Given the description of an element on the screen output the (x, y) to click on. 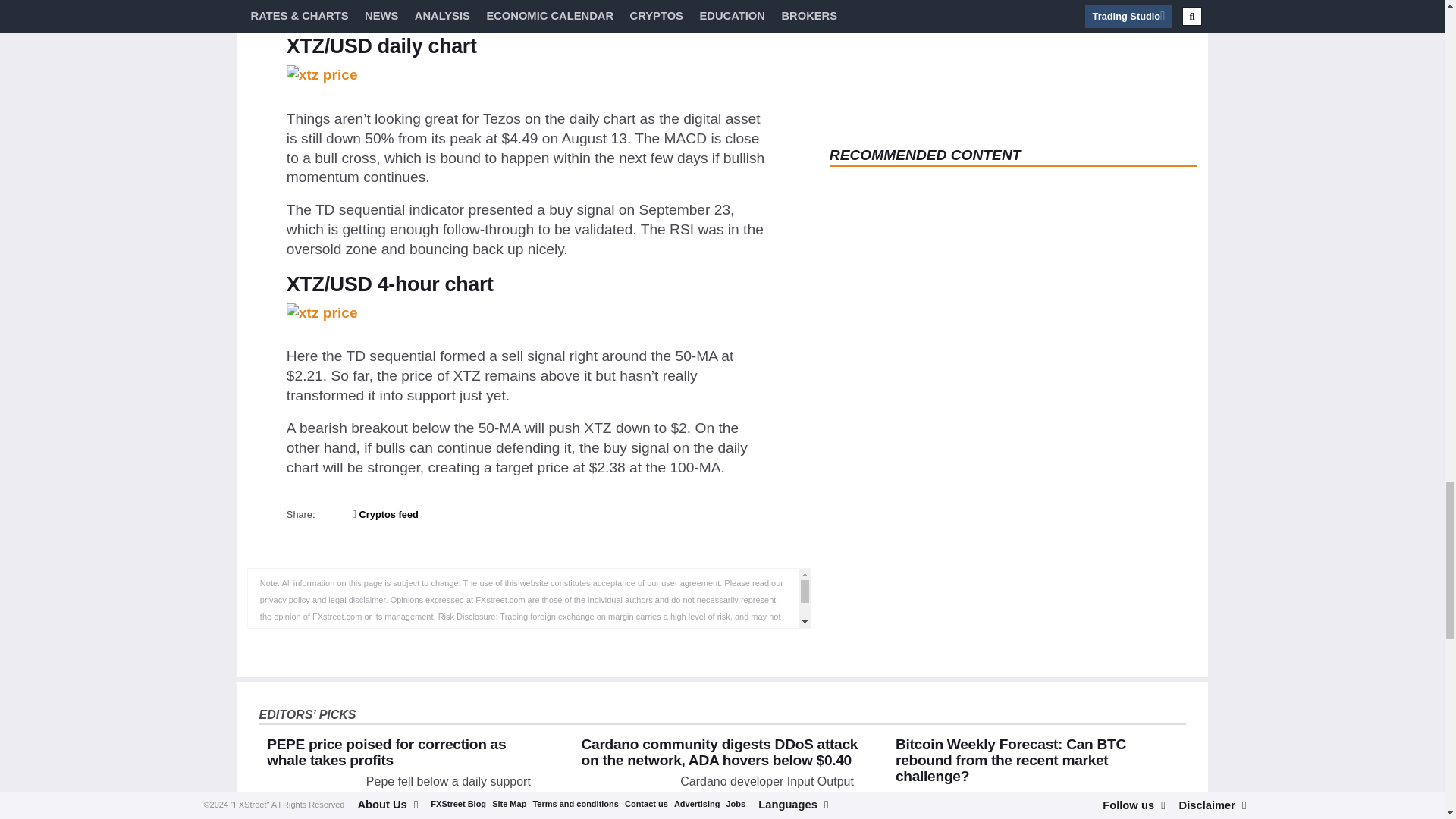
PEPE price poised for correction as whale takes profits (312, 796)
PEPE price poised for correction as whale takes profits (385, 752)
